Given the description of an element on the screen output the (x, y) to click on. 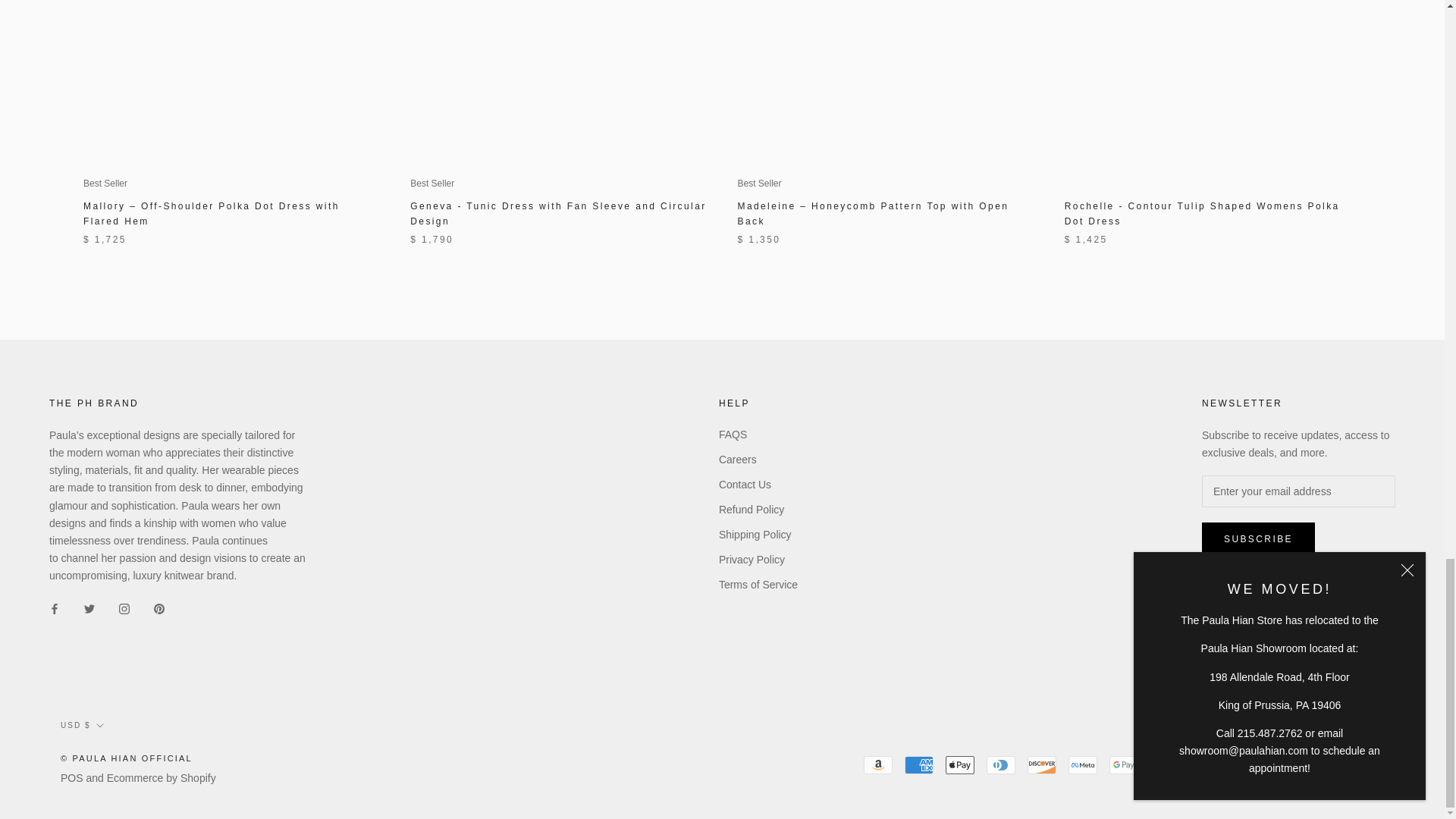
Apple Pay (959, 764)
Amazon (877, 764)
American Express (918, 764)
